Given the description of an element on the screen output the (x, y) to click on. 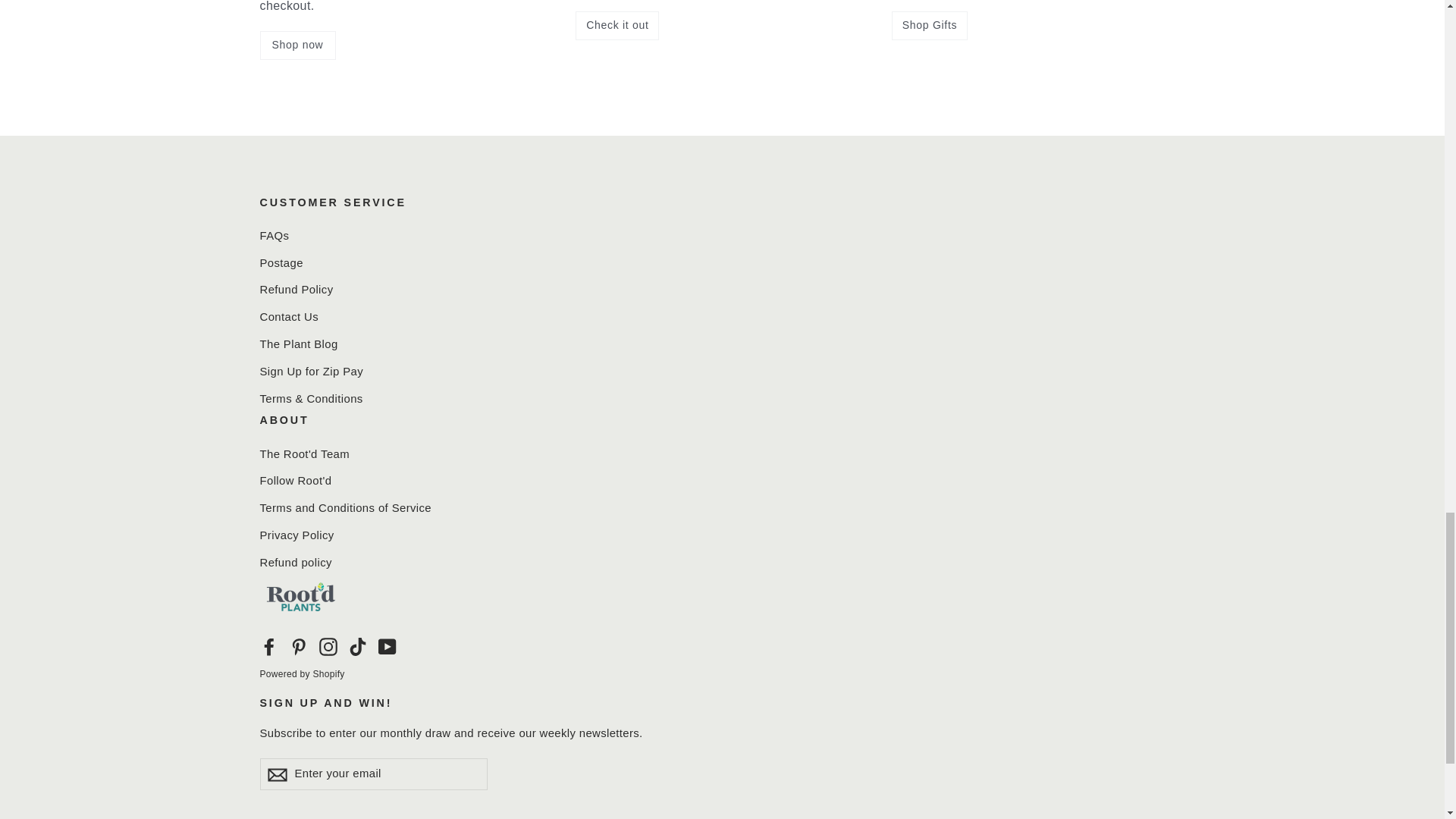
Root'd Plants on TikTok (357, 646)
Root'd Plants on Facebook (268, 646)
Root'd Plants on Pinterest (298, 646)
Root'd Plants on YouTube (386, 646)
Root'd Plants on Instagram (327, 646)
